Given the description of an element on the screen output the (x, y) to click on. 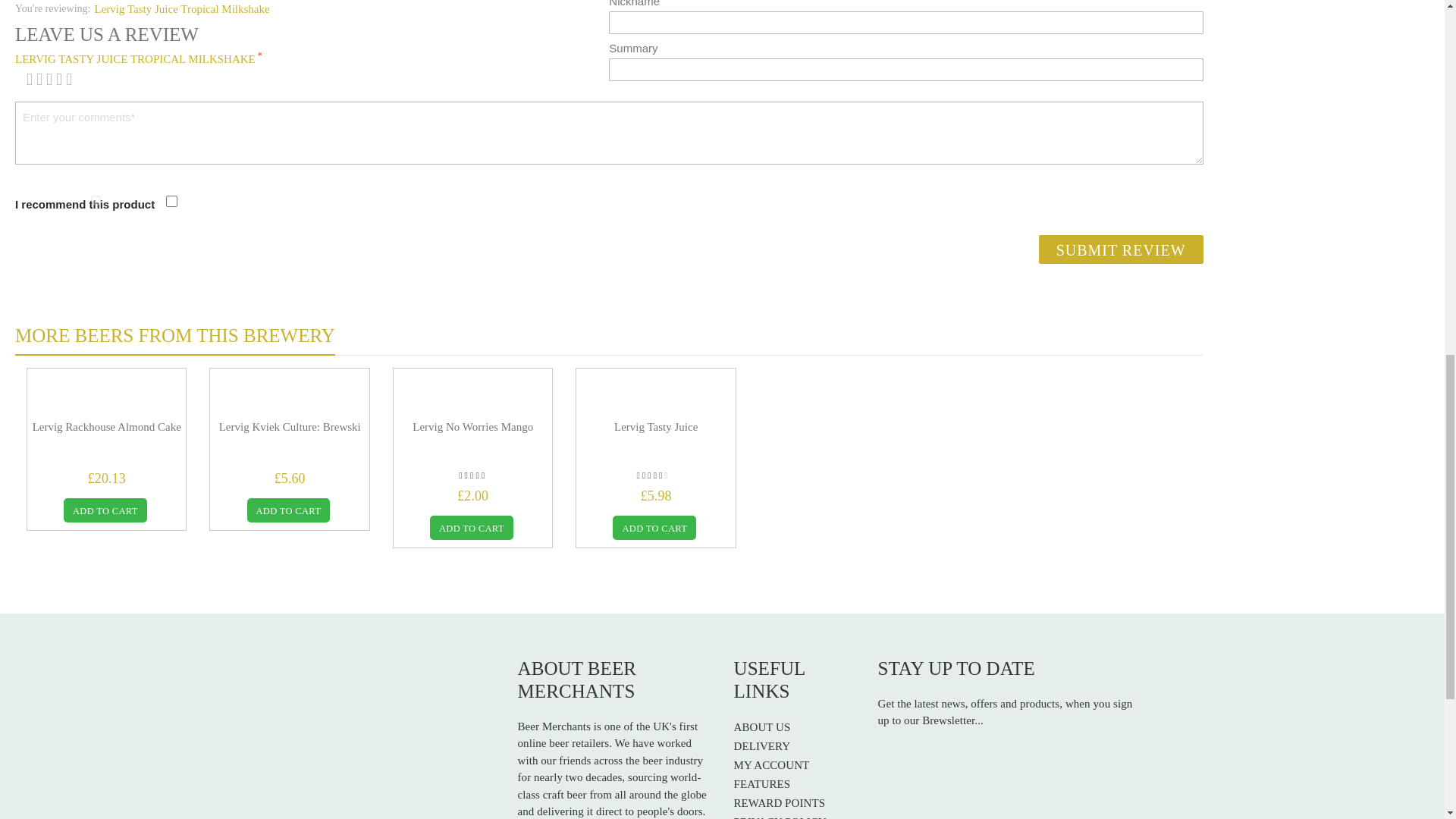
1 (95, 200)
